Given the description of an element on the screen output the (x, y) to click on. 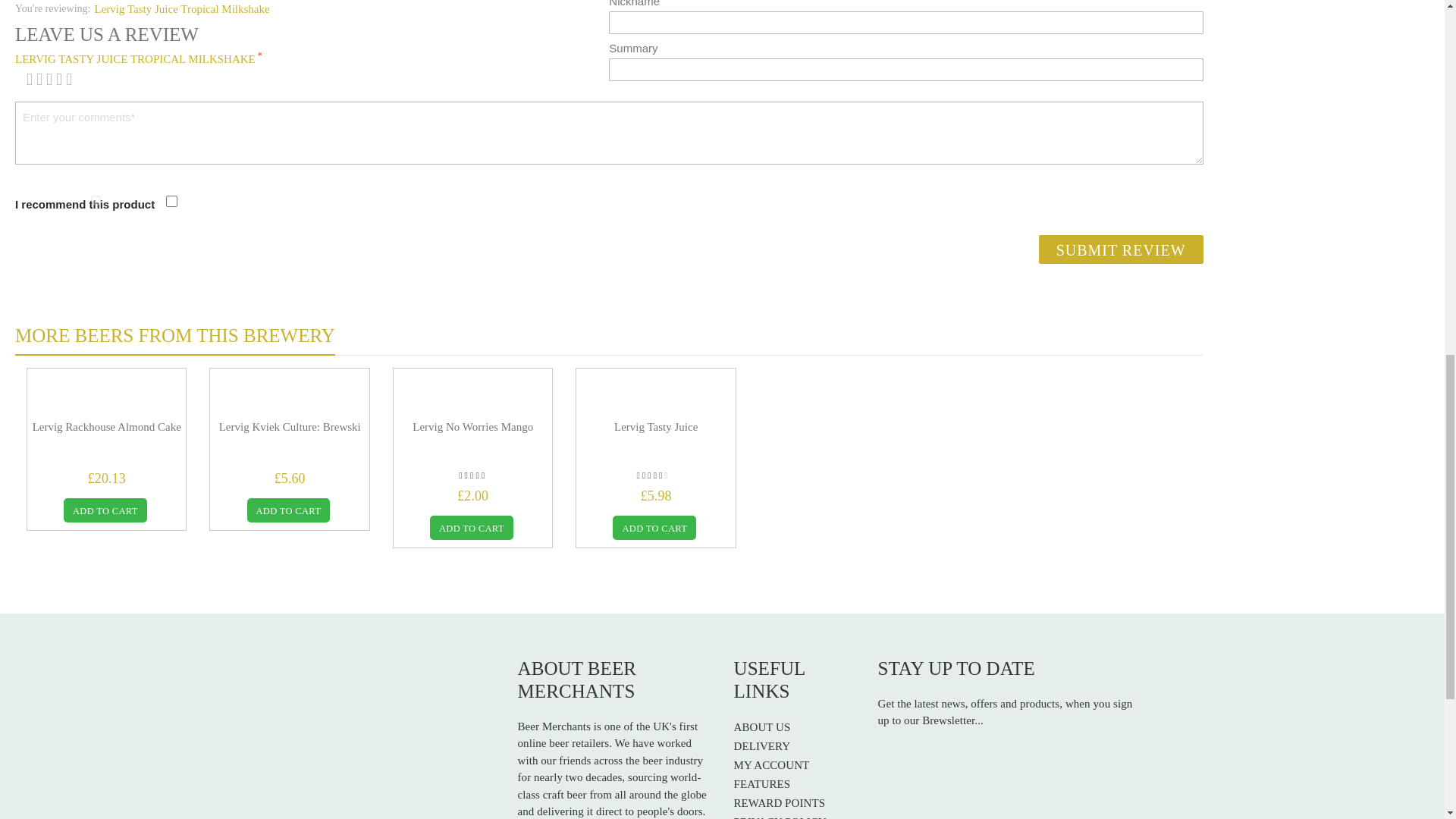
1 (95, 200)
